Given the description of an element on the screen output the (x, y) to click on. 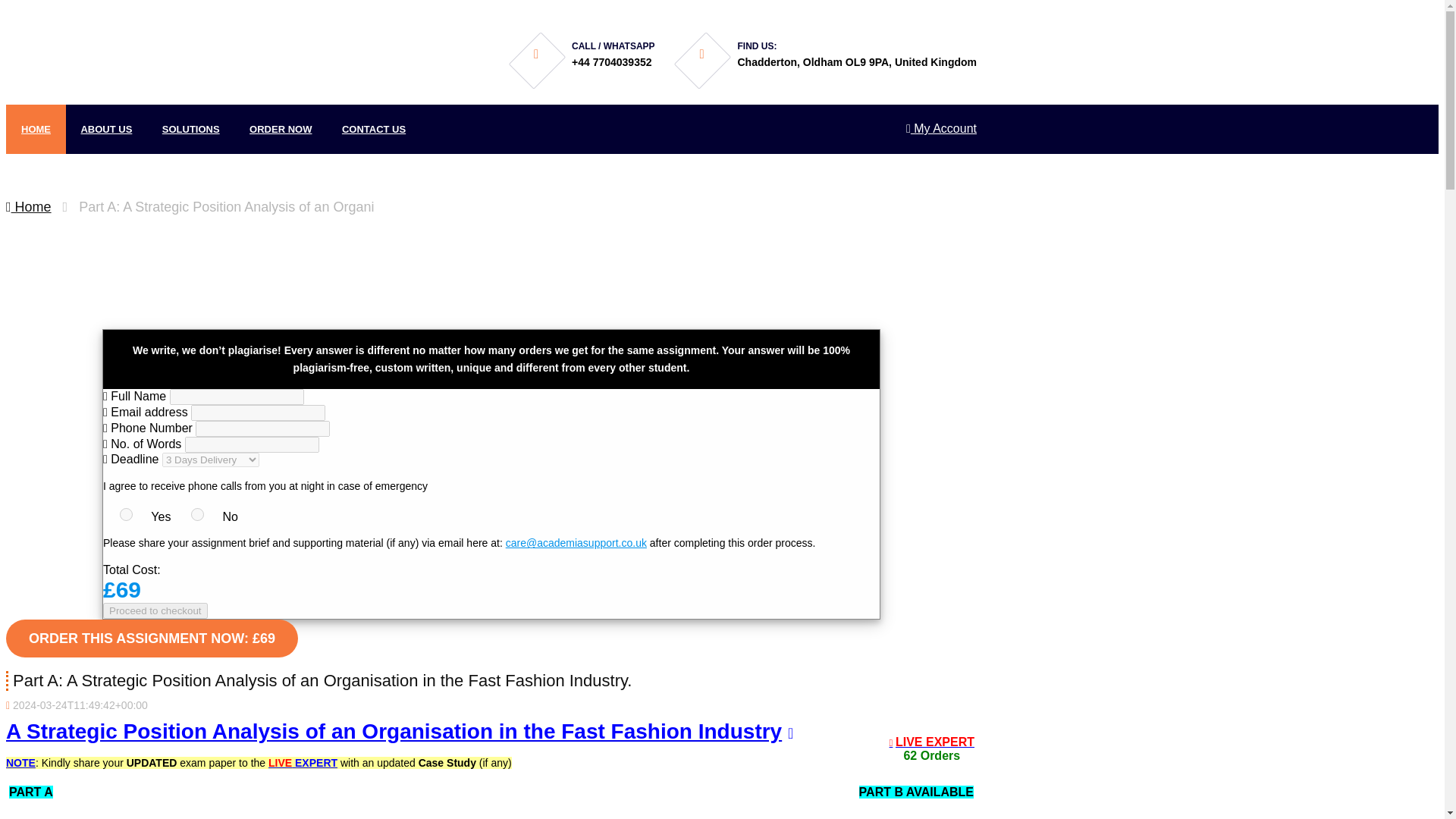
CONTACT US (373, 128)
ORDER NOW (280, 128)
SOLUTIONS (190, 128)
Proceed to checkout (155, 610)
My Account (940, 128)
EXPERT (314, 762)
LIVE (279, 762)
yes (125, 513)
Proceed to checkout (155, 610)
NOTE (19, 762)
no (196, 513)
Home (27, 206)
HOME (35, 128)
LIVE EXPERT (934, 741)
